Given the description of an element on the screen output the (x, y) to click on. 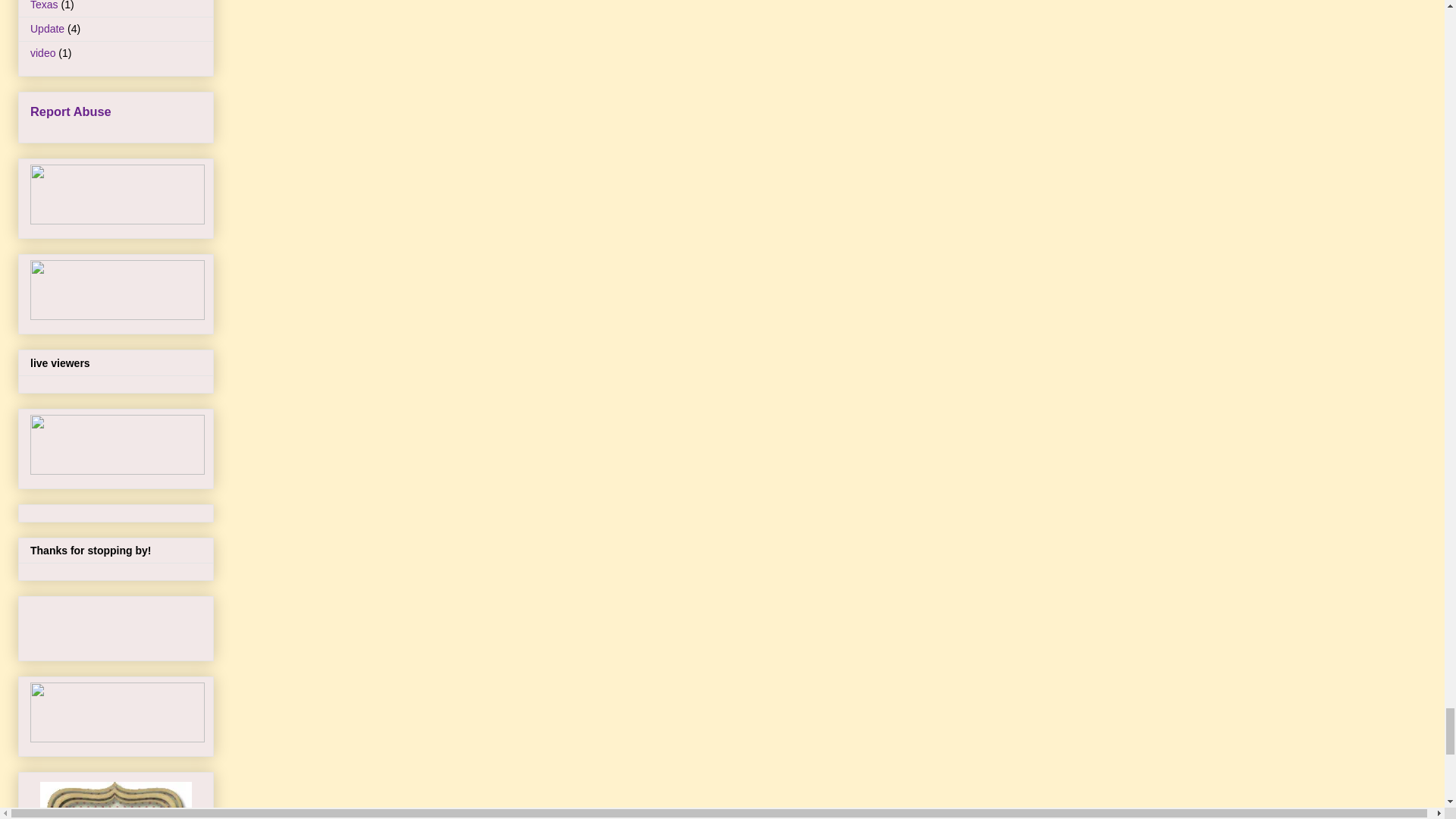
Simply Set Apart (116, 800)
